Given the description of an element on the screen output the (x, y) to click on. 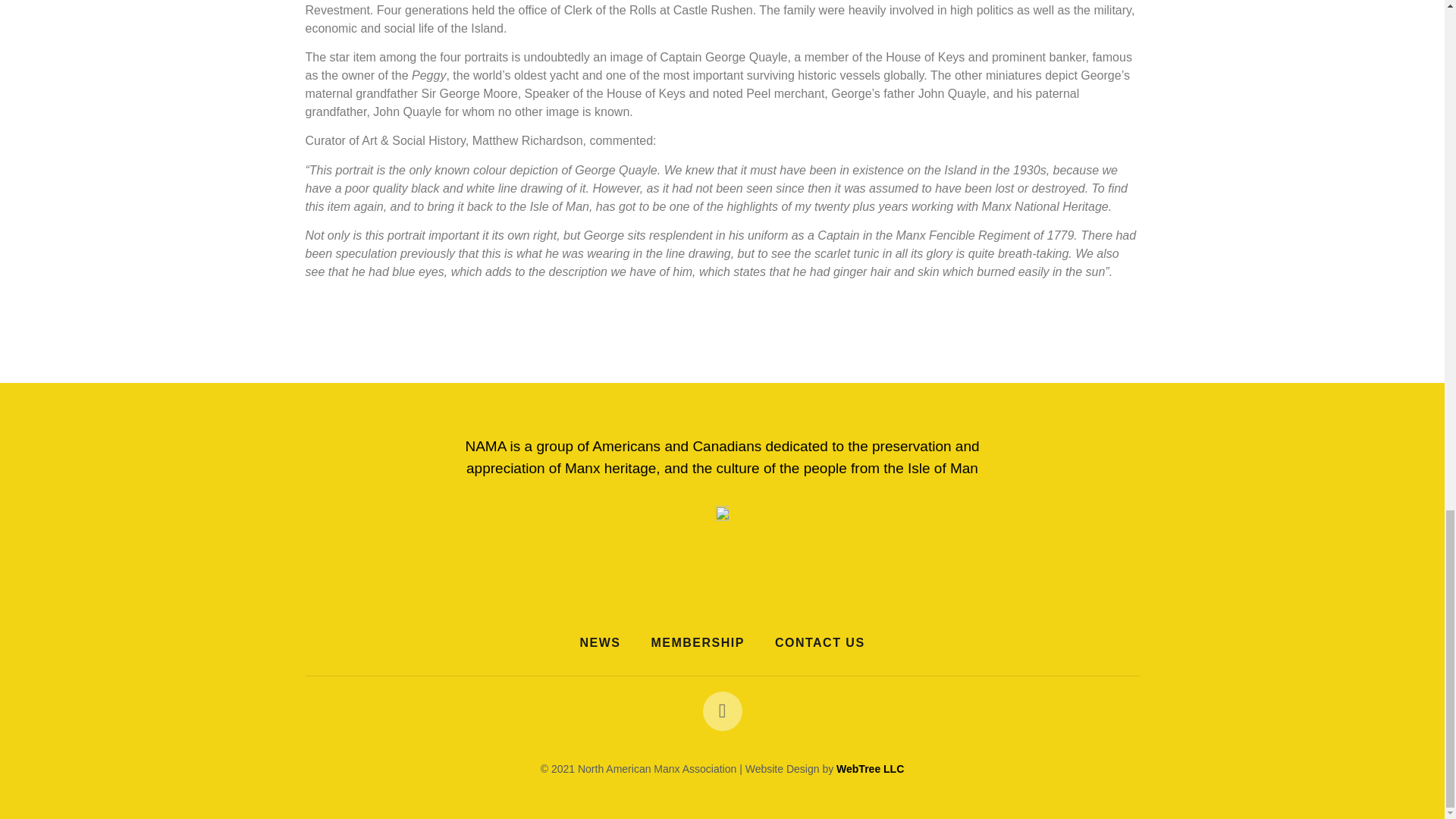
NEWS (599, 642)
CONTACT US (820, 642)
MEMBERSHIP (696, 642)
